Given the description of an element on the screen output the (x, y) to click on. 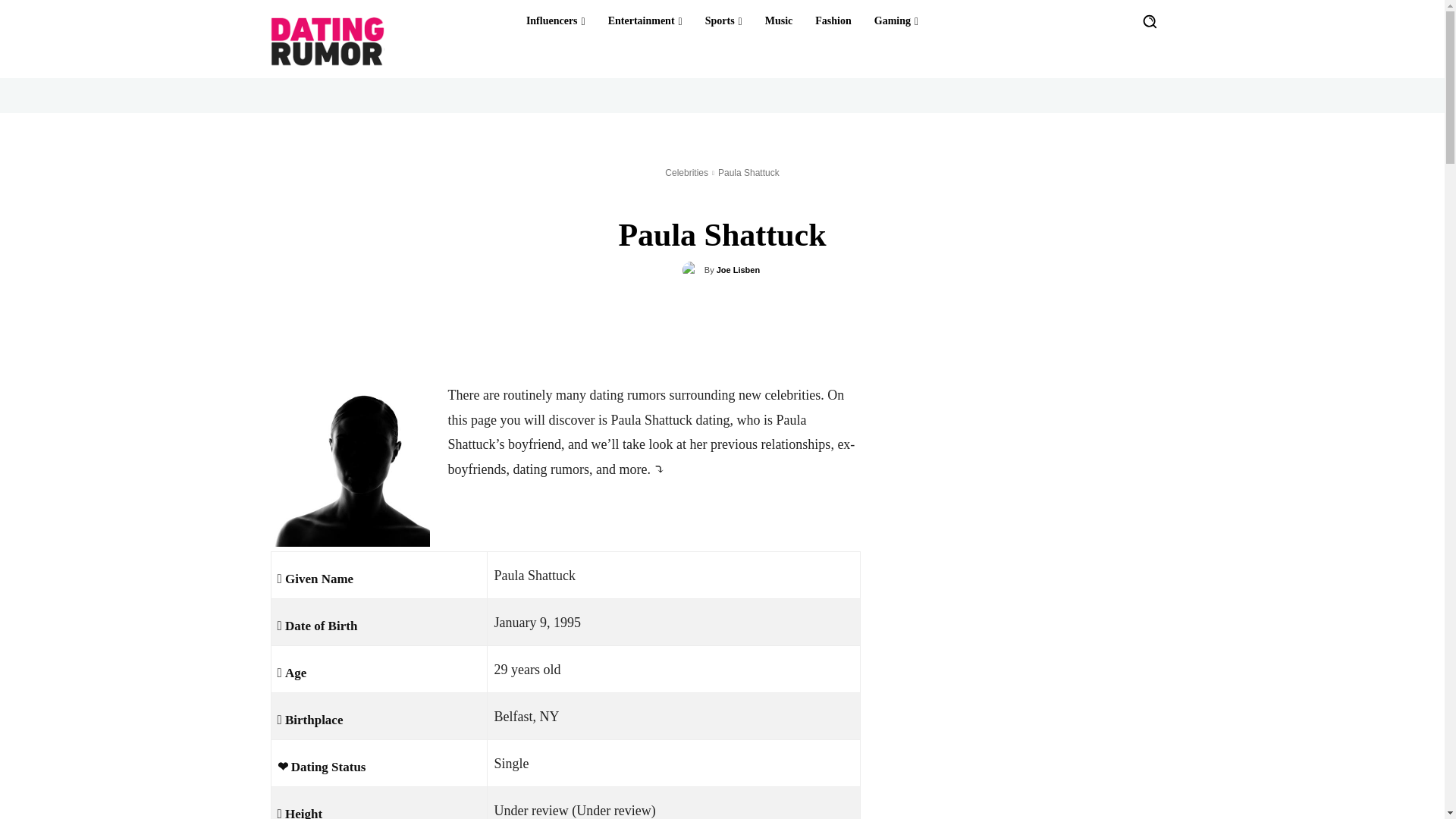
Influencers (555, 20)
Entertainment (644, 20)
Gaming (896, 20)
Fashion (833, 20)
Music (778, 20)
Sports (723, 20)
